Given the description of an element on the screen output the (x, y) to click on. 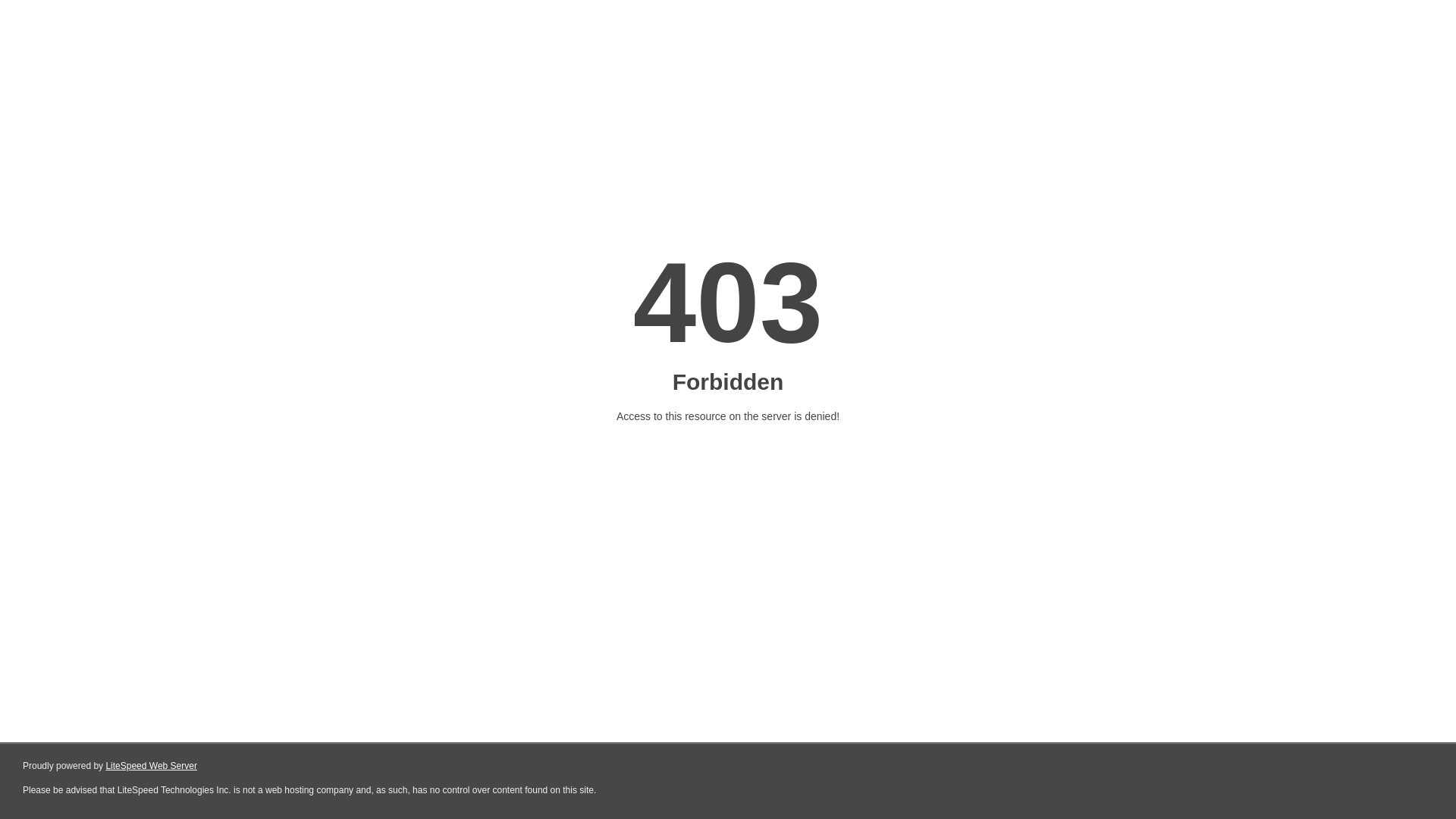
LiteSpeed Web Server Element type: text (151, 765)
